Given the description of an element on the screen output the (x, y) to click on. 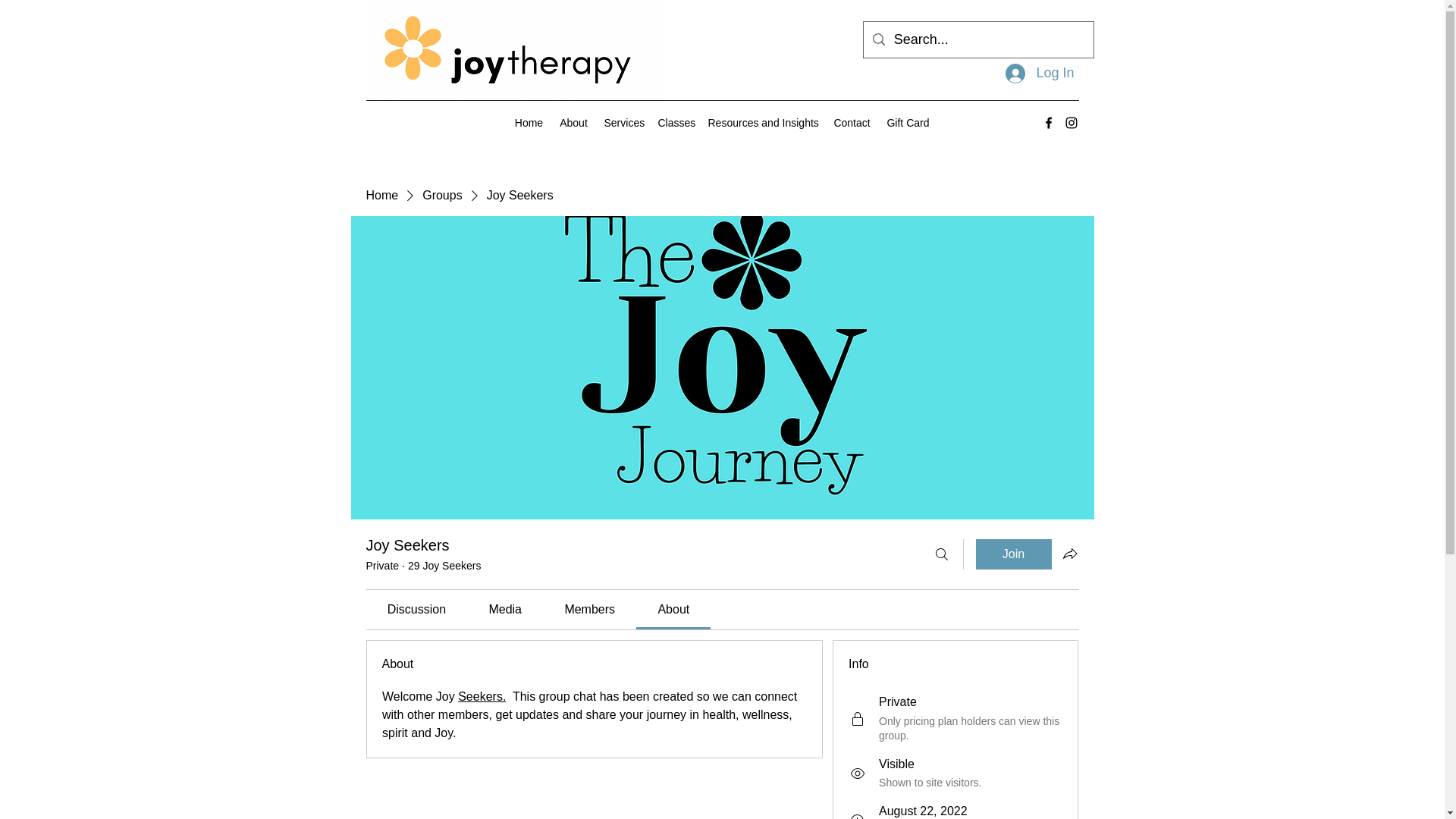
Groups (441, 195)
About (572, 122)
Gift Card (907, 122)
Home (528, 122)
Classes (675, 122)
Join (1013, 553)
Log In (1039, 73)
Services (622, 122)
Home (381, 195)
E0D2764B-EB29-4C50-9DAC-A1B7F04E8EF2.png (513, 49)
Contact (851, 122)
Resources and Insights (762, 122)
